Given the description of an element on the screen output the (x, y) to click on. 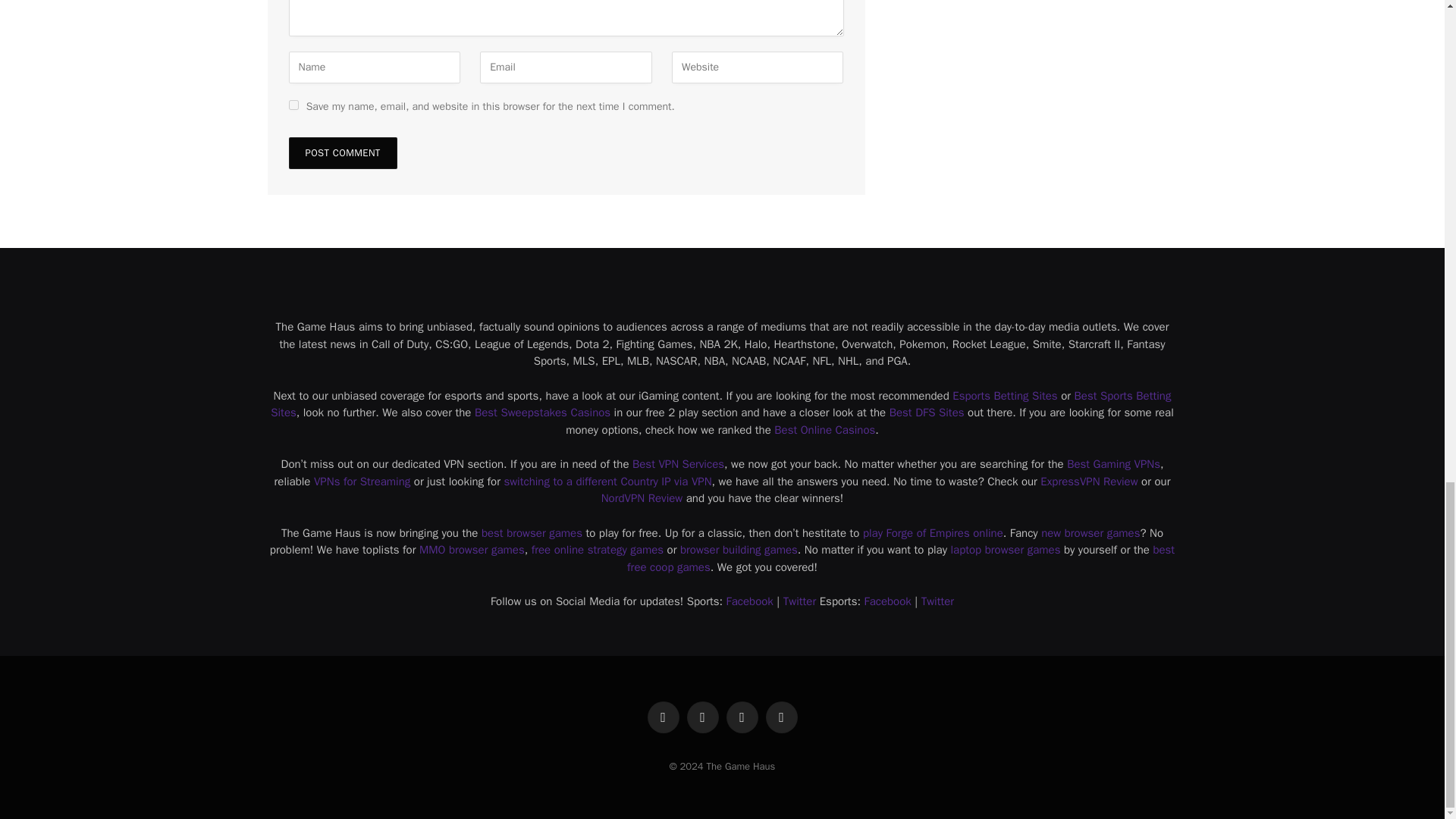
yes (293, 104)
Post Comment (342, 152)
